Given the description of an element on the screen output the (x, y) to click on. 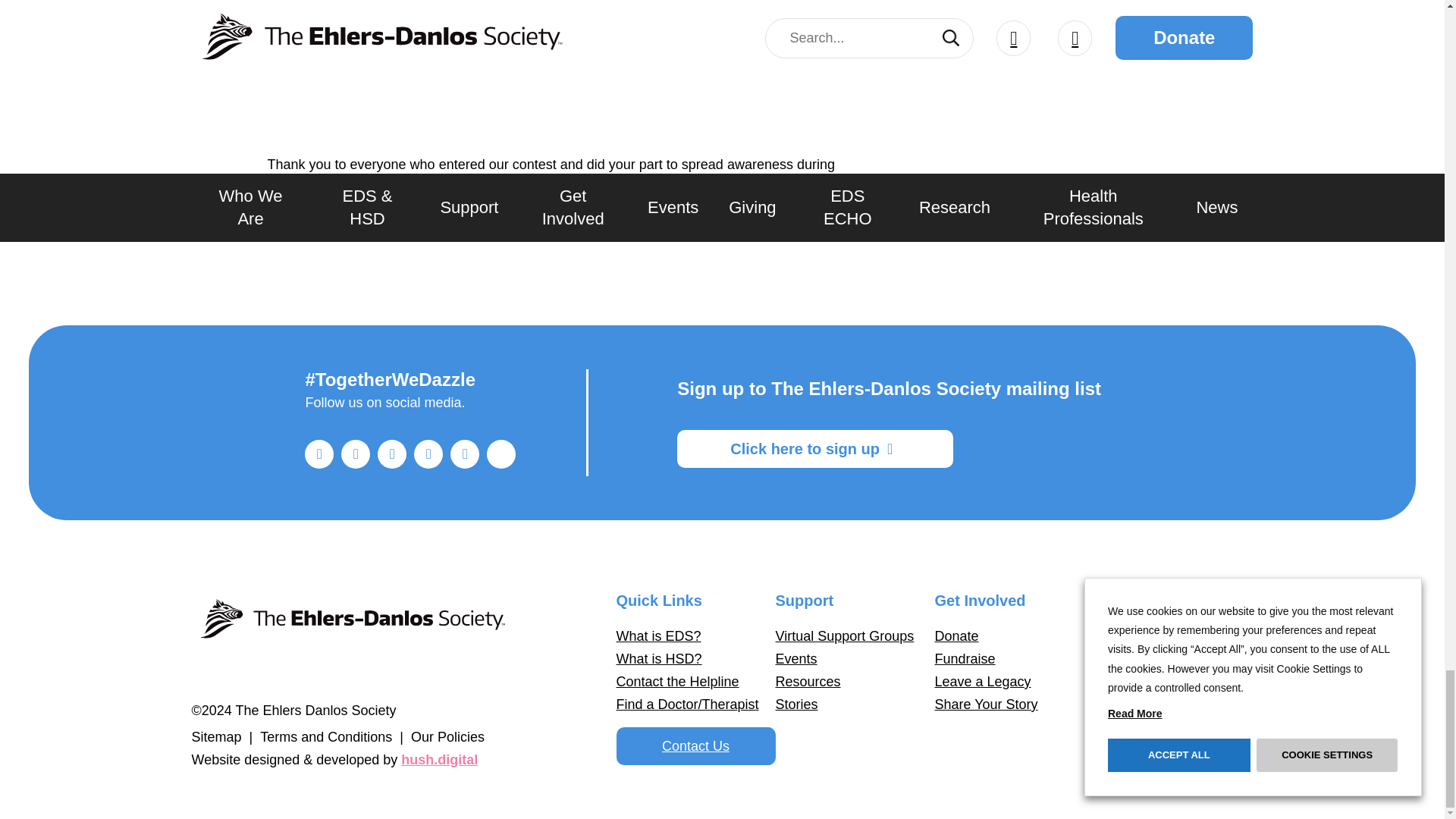
The Ehlers Danlos Society (350, 627)
